Given the description of an element on the screen output the (x, y) to click on. 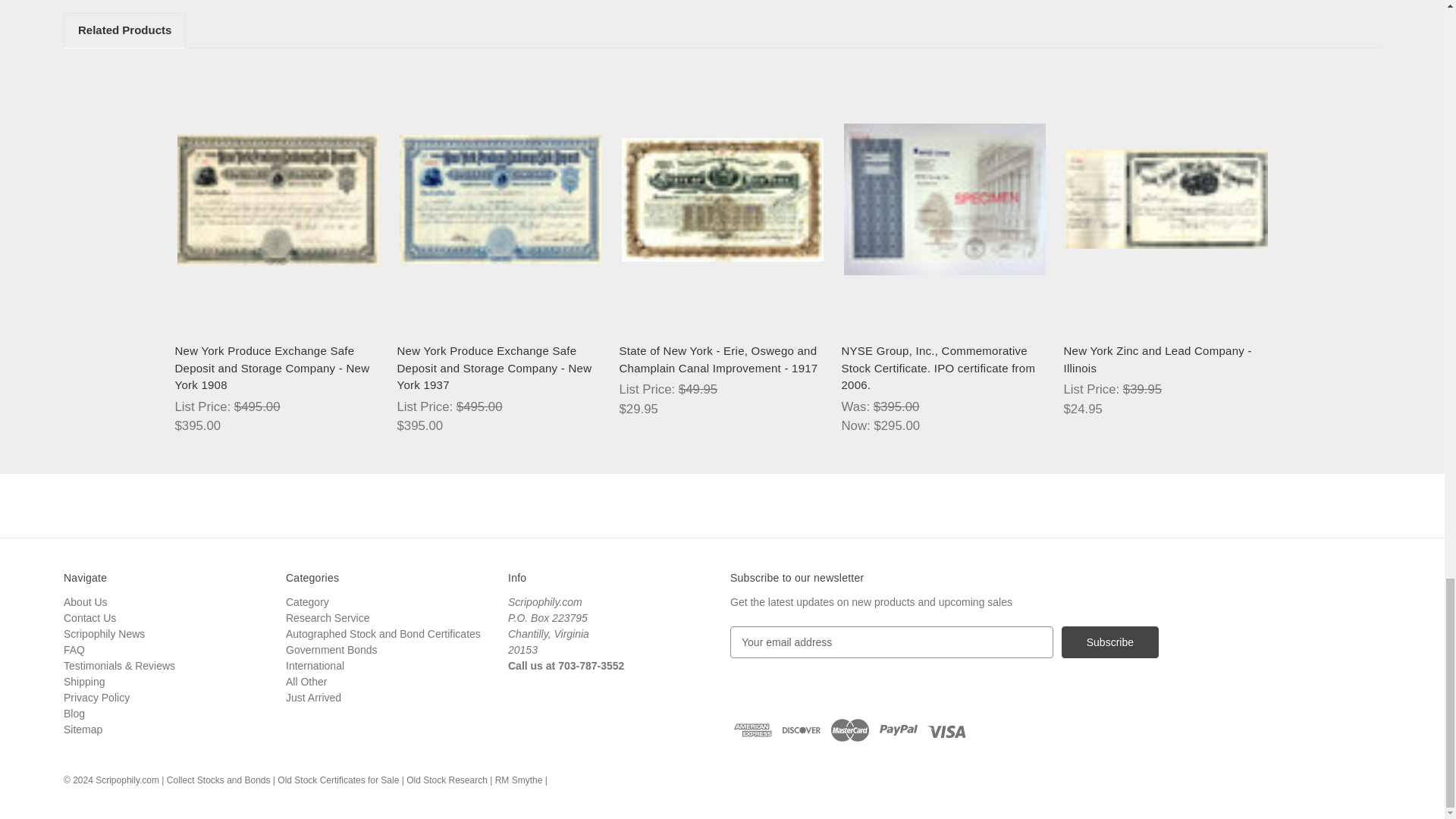
New York Zinc and Lead Company - Illinois (1166, 198)
Subscribe (1109, 642)
